Given the description of an element on the screen output the (x, y) to click on. 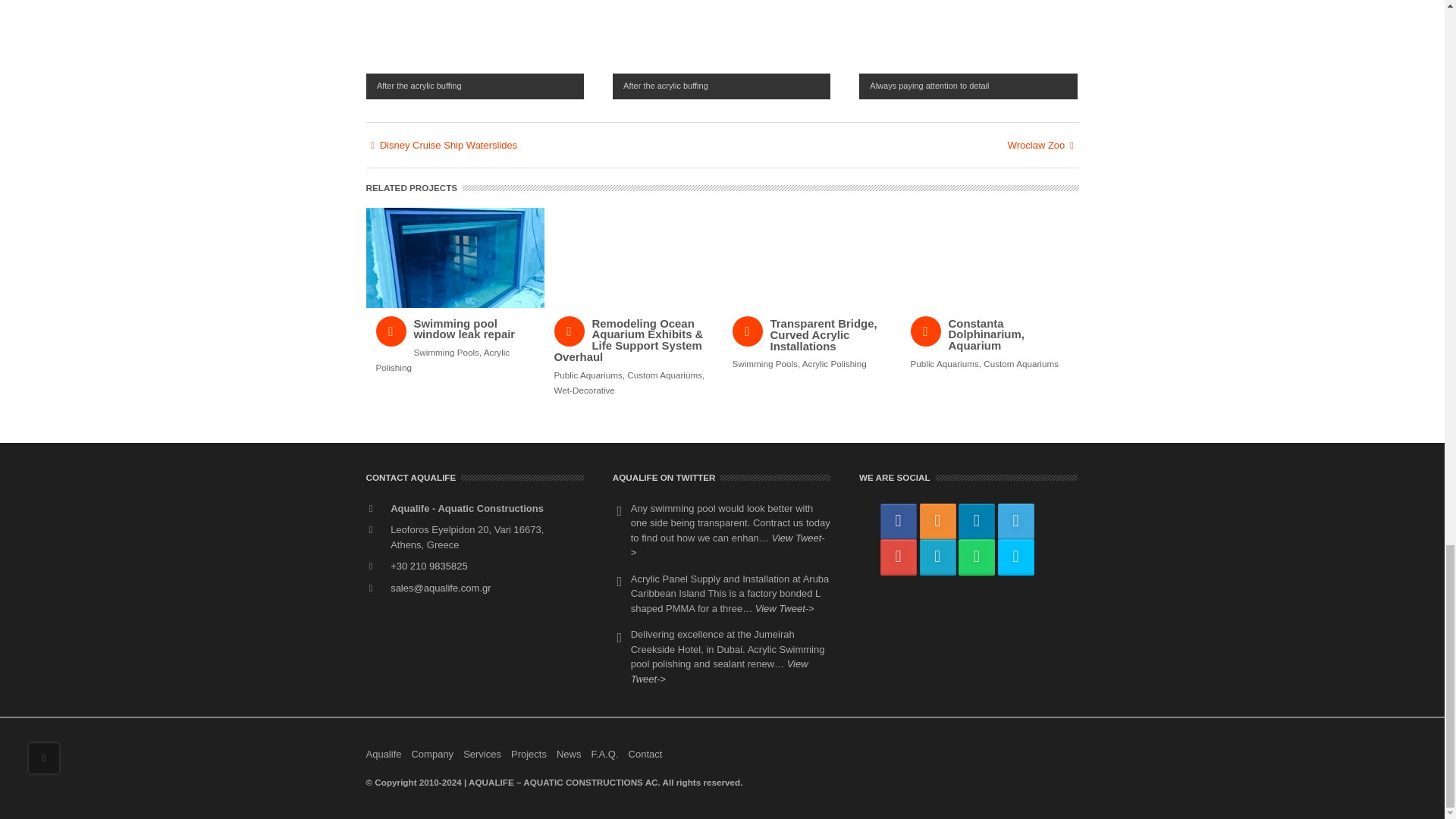
Disney Cruise Ship Waterslides (543, 145)
Swimming pool window leak repair (454, 329)
Wroclaw Zoo (900, 145)
